Given the description of an element on the screen output the (x, y) to click on. 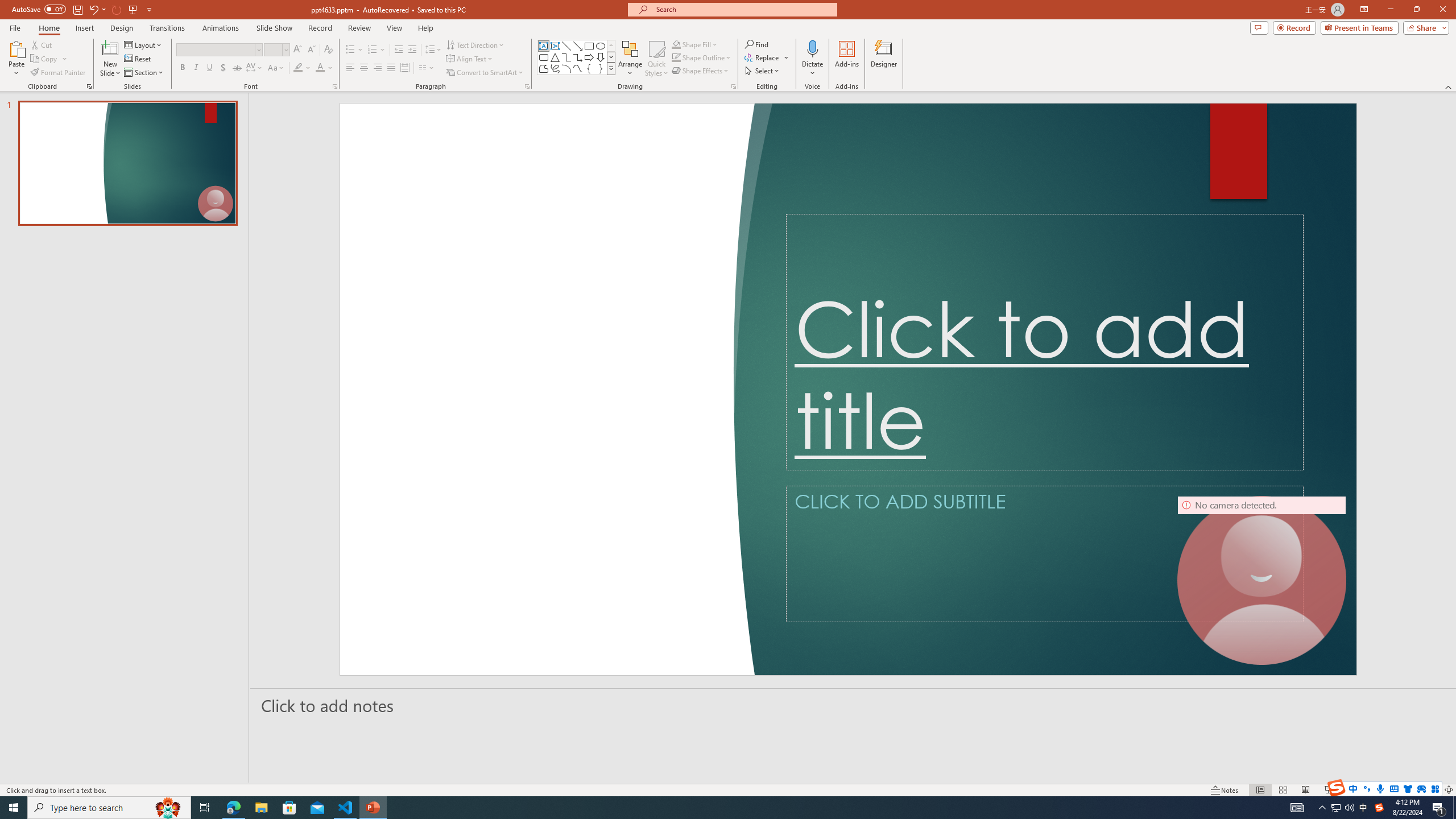
Shape Fill Orange, Accent 2 (675, 44)
